Given the description of an element on the screen output the (x, y) to click on. 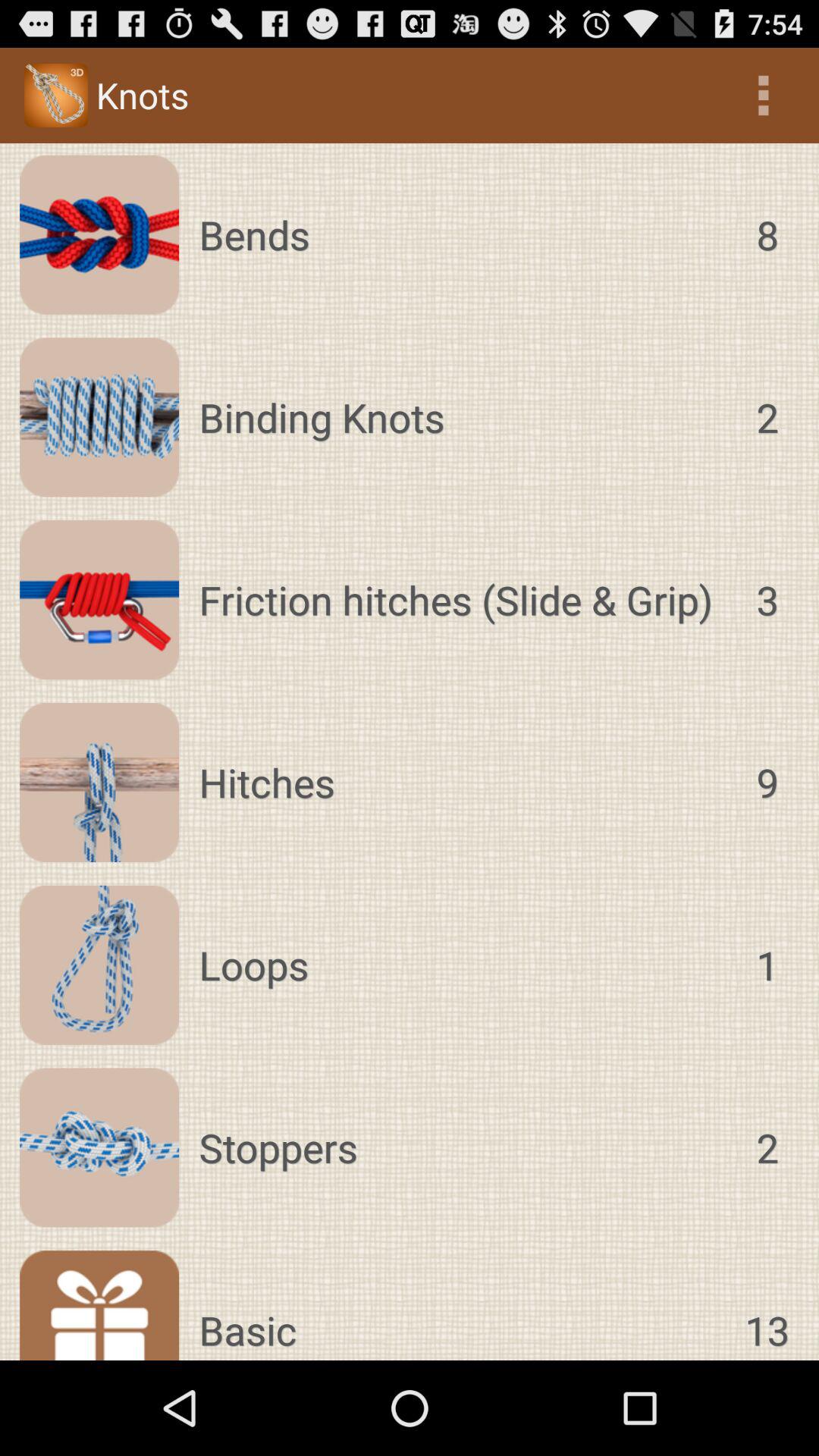
open loops icon (463, 964)
